Given the description of an element on the screen output the (x, y) to click on. 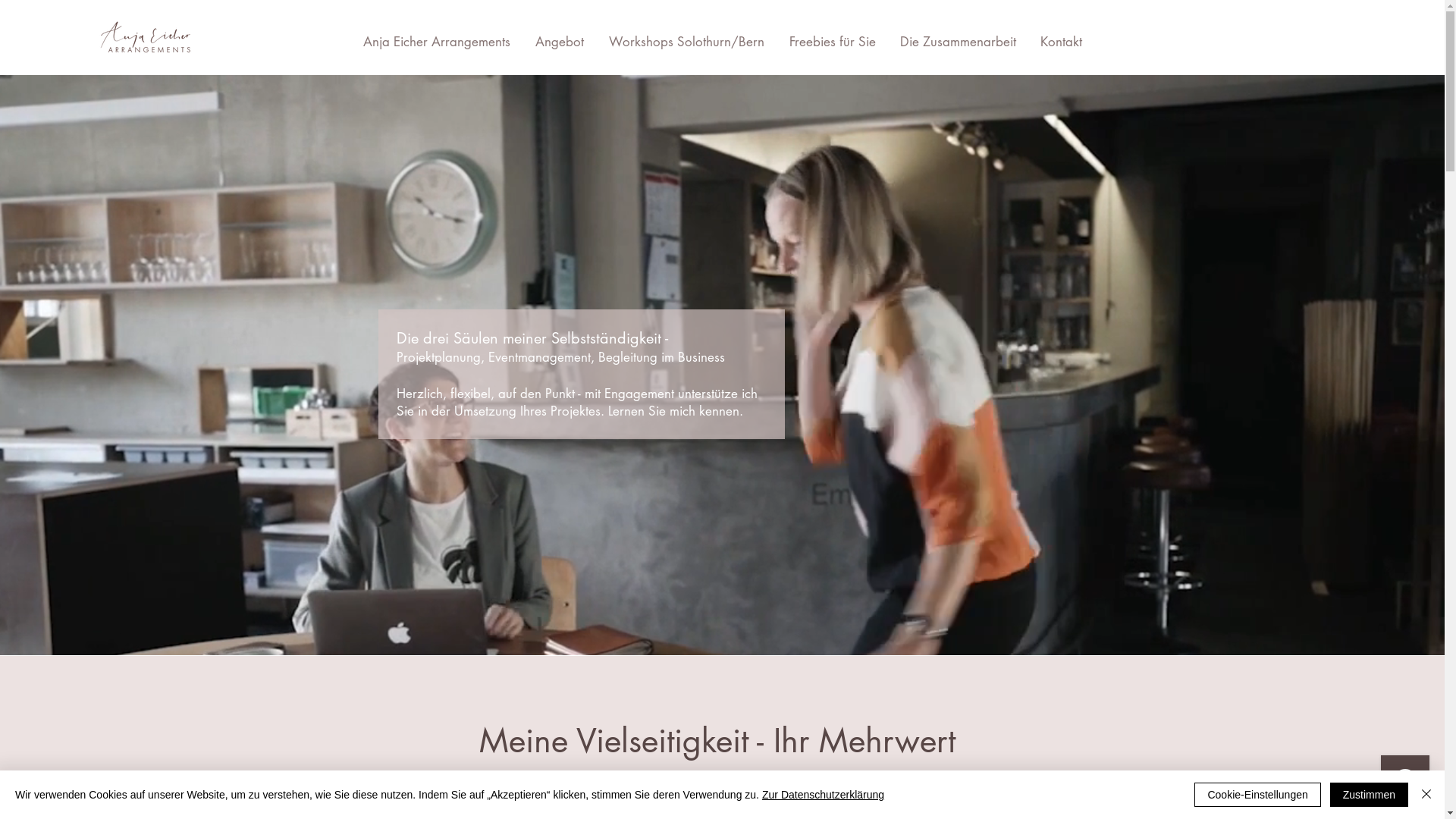
Projektplanung, Eventmanagement, Begleitung im Business Element type: text (559, 356)
Anja Eicher Arrangements Element type: text (436, 41)
Zustimmen Element type: text (1369, 794)
Workshops Solothurn/Bern Element type: text (686, 41)
Cookie-Einstellungen Element type: text (1257, 794)
Angebot Element type: text (559, 41)
AnjaEicher_Logo_RGB_pos.png Element type: hover (145, 36)
Die Zusammenarbeit Element type: text (957, 41)
Kontakt Element type: text (1061, 41)
